Given the description of an element on the screen output the (x, y) to click on. 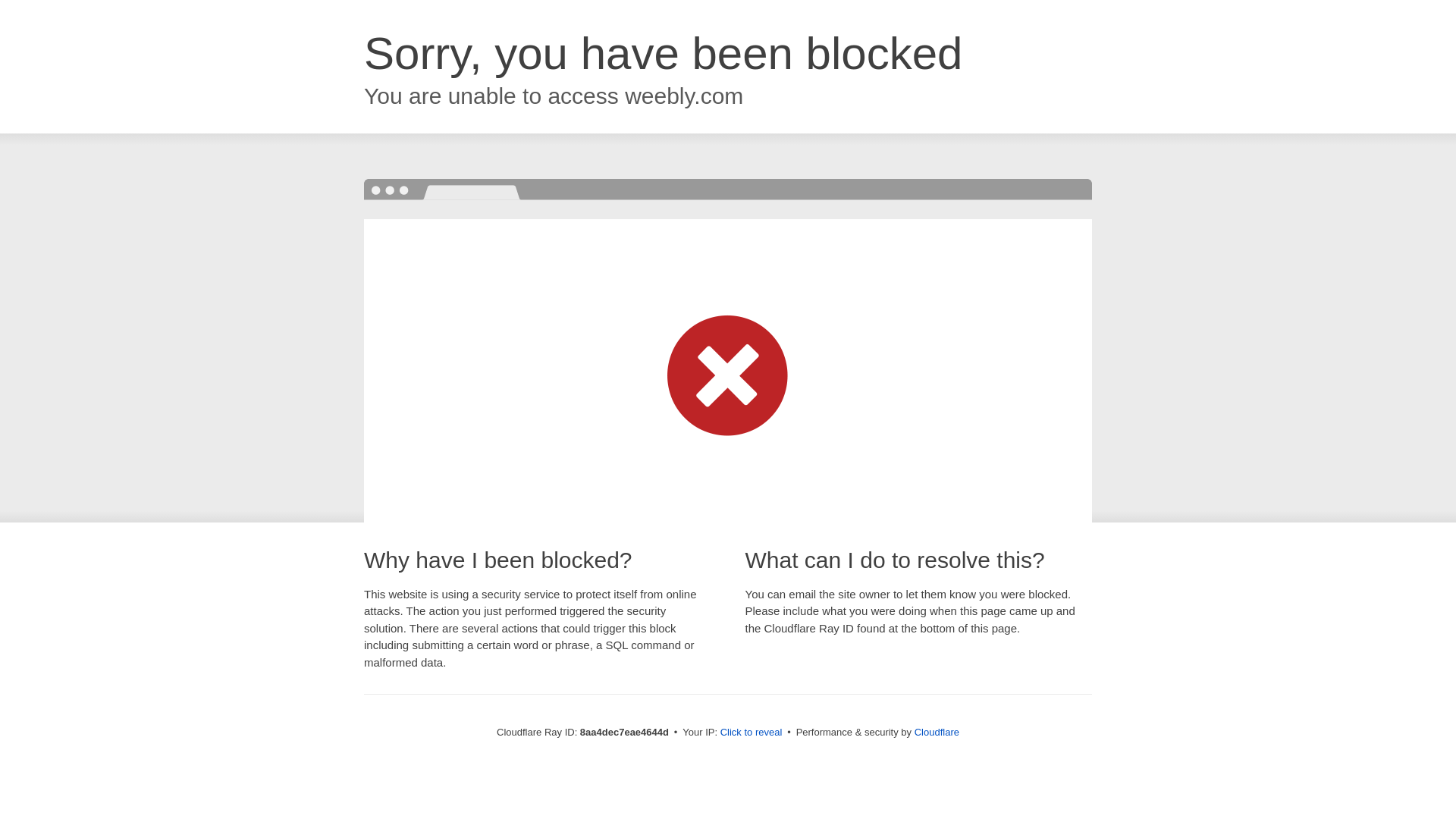
Click to reveal (751, 732)
Cloudflare (936, 731)
